Given the description of an element on the screen output the (x, y) to click on. 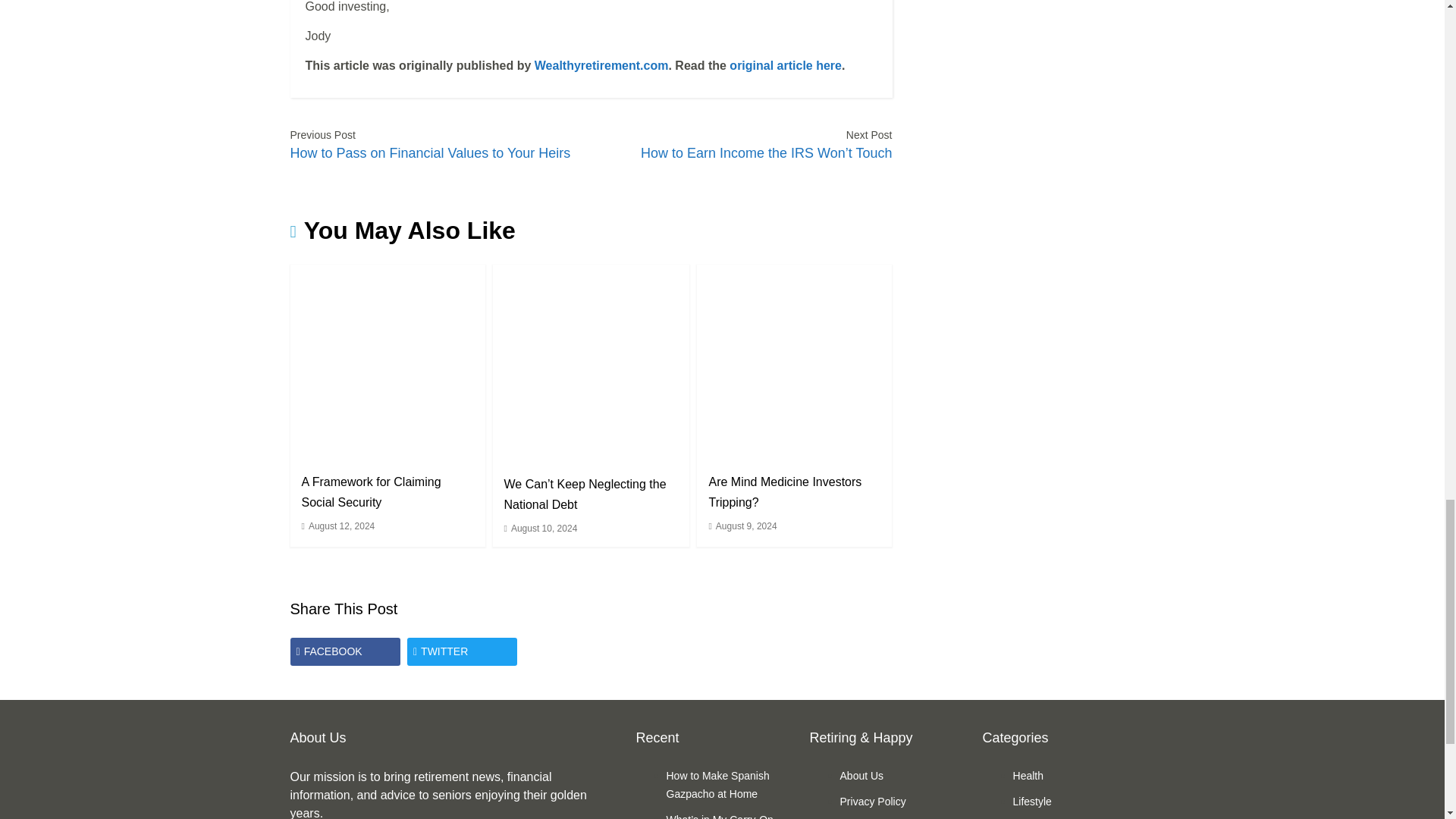
August 9, 2024 (746, 525)
A Framework for Claiming Social Security (371, 491)
A Framework for Claiming Social Security (386, 361)
Wealthyretirement.com (601, 65)
August 12, 2024 (341, 525)
How to Pass on Financial Values to Your Heirs (429, 151)
August 10, 2024 (543, 528)
original article here (785, 65)
FACEBOOK (343, 651)
Are Mind Medicine Investors Tripping? (784, 491)
